Given the description of an element on the screen output the (x, y) to click on. 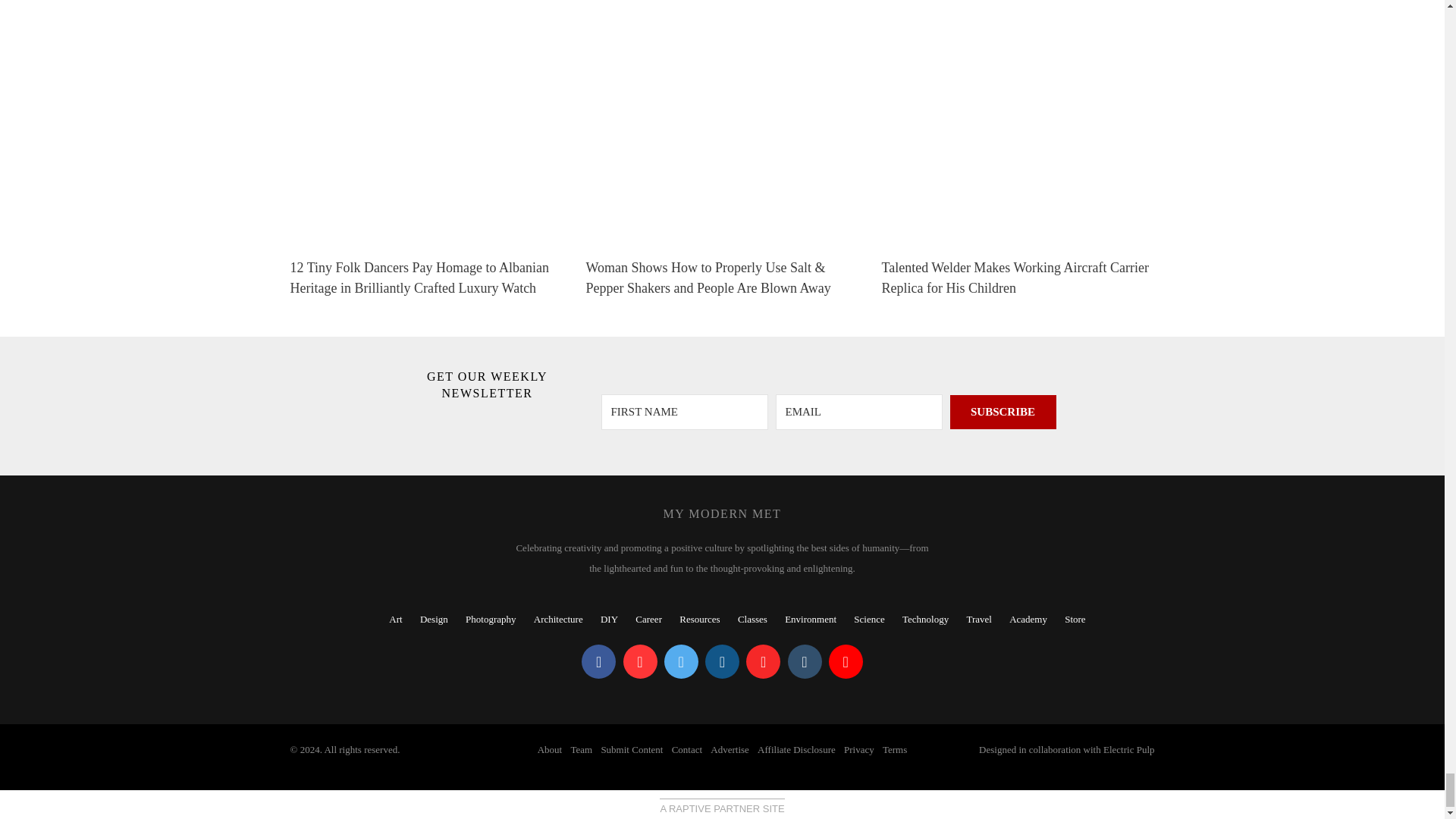
My Modern Met on Instagram (721, 661)
My Modern Met on Pinterest (640, 661)
My Modern Met on Twitter (680, 661)
My Modern Met on Tumblr (804, 661)
My Modern Met on Facebook (597, 661)
My Modern Met on YouTube (845, 661)
